Given the description of an element on the screen output the (x, y) to click on. 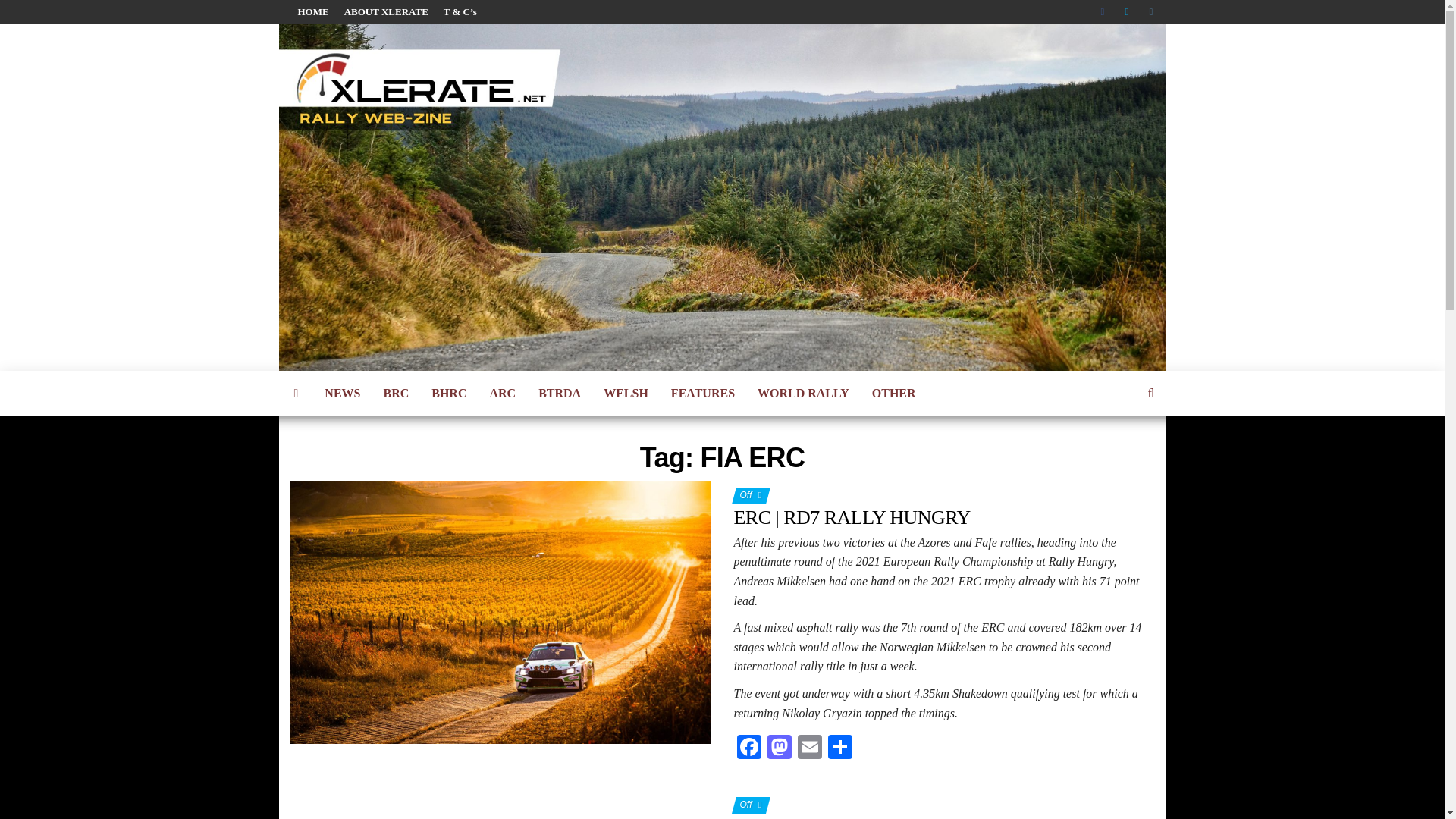
ABOUT XLERATE (385, 12)
Share (840, 748)
ABOUT XLERATE (385, 12)
JOIN US ON FACEBOOK (1105, 12)
FOLLOW US ON INSTAGRAM (1153, 12)
WELSH (625, 393)
Email (809, 748)
ARC (502, 393)
BTRDA (559, 393)
BTRDA (559, 393)
BHRC (448, 393)
NEWS (342, 393)
WELSH (625, 393)
FEATURES (702, 393)
FOLLOW US ON INSTAGRAM (1153, 12)
